Given the description of an element on the screen output the (x, y) to click on. 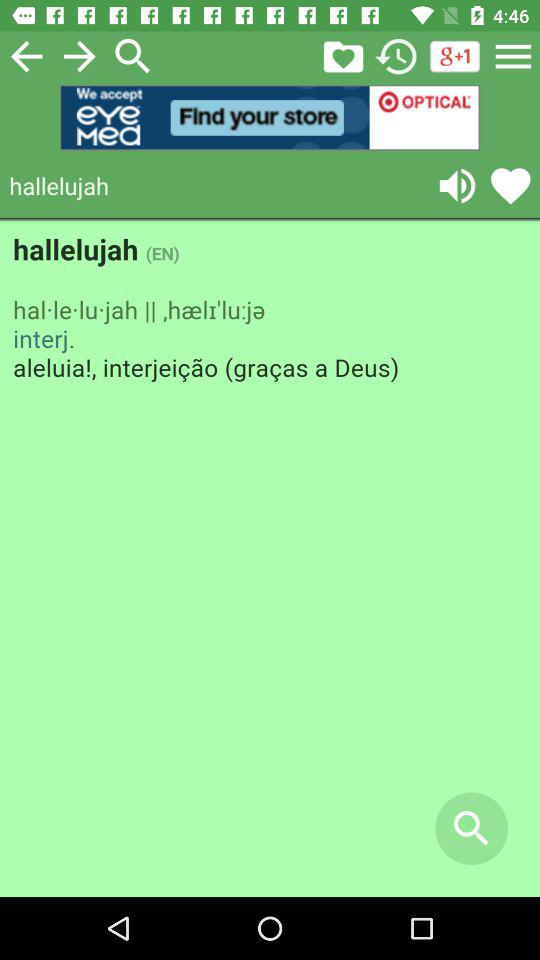
add to favorites list (510, 185)
